Given the description of an element on the screen output the (x, y) to click on. 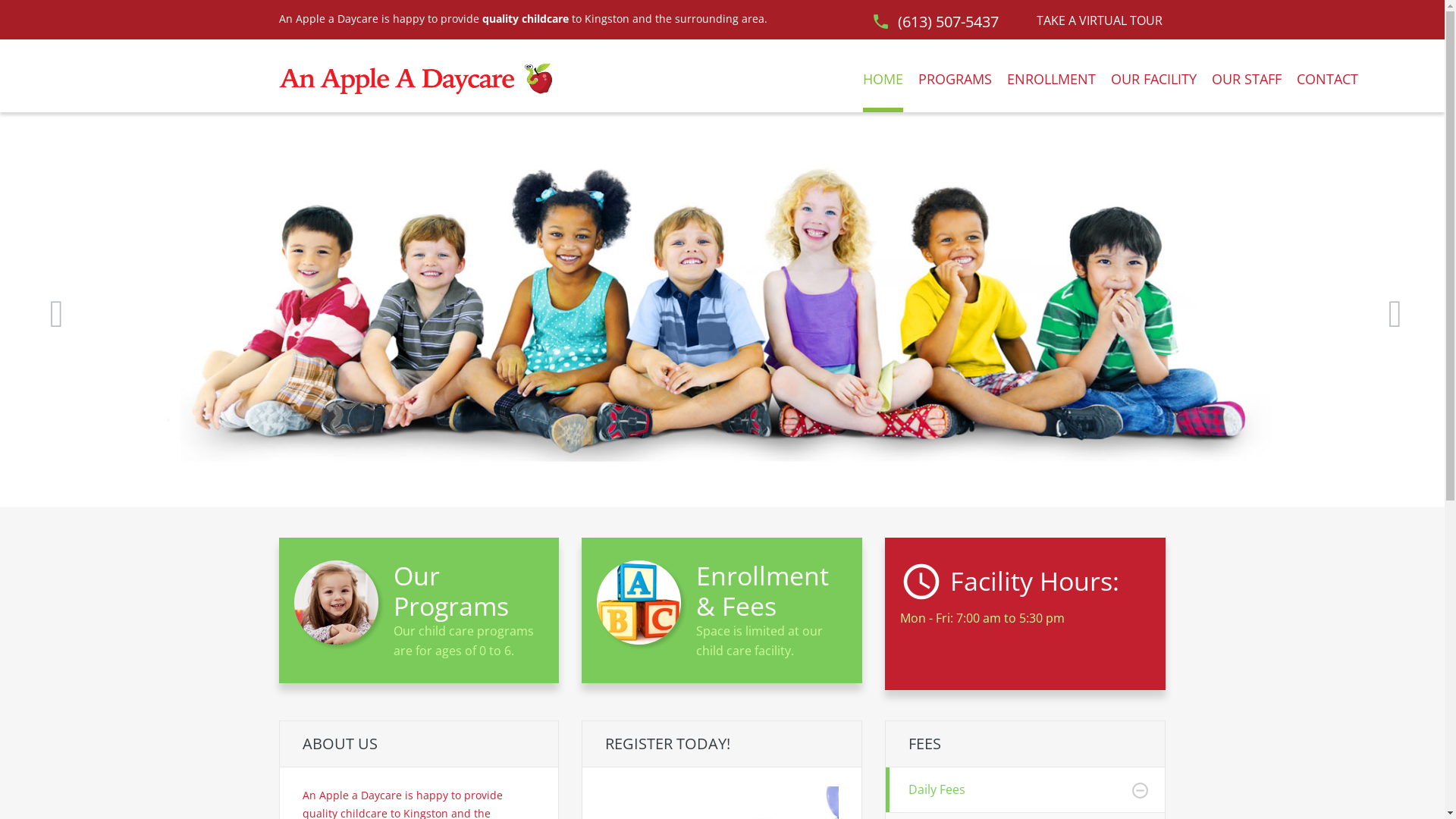
HOME Element type: text (882, 89)
Facility Hours: Element type: text (1034, 578)
OUR FACILITY Element type: text (1153, 89)
Our
Programs Element type: text (419, 591)
TAKE A VIRTUAL TOUR Element type: text (1099, 20)
OUR STAFF Element type: text (1246, 89)
PROGRAMS Element type: text (954, 89)
CONTACT Element type: text (1327, 89)
Enrollment & Fees Element type: text (762, 590)
Daily Fees Element type: text (1024, 789)
ENROLLMENT Element type: text (1051, 89)
